Given the description of an element on the screen output the (x, y) to click on. 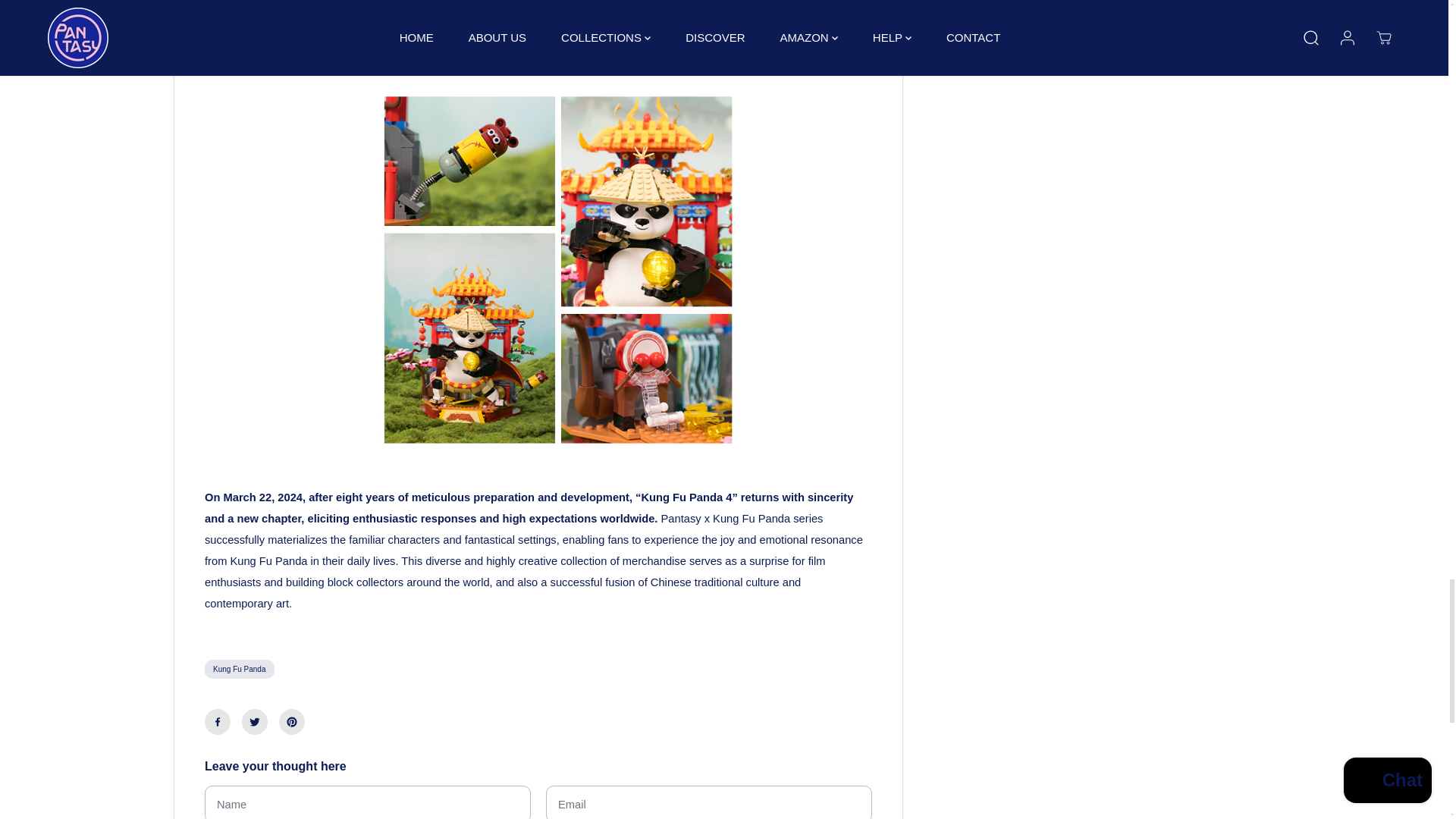
Facebook (217, 721)
Twitter (254, 721)
Pinterest (291, 721)
